Given the description of an element on the screen output the (x, y) to click on. 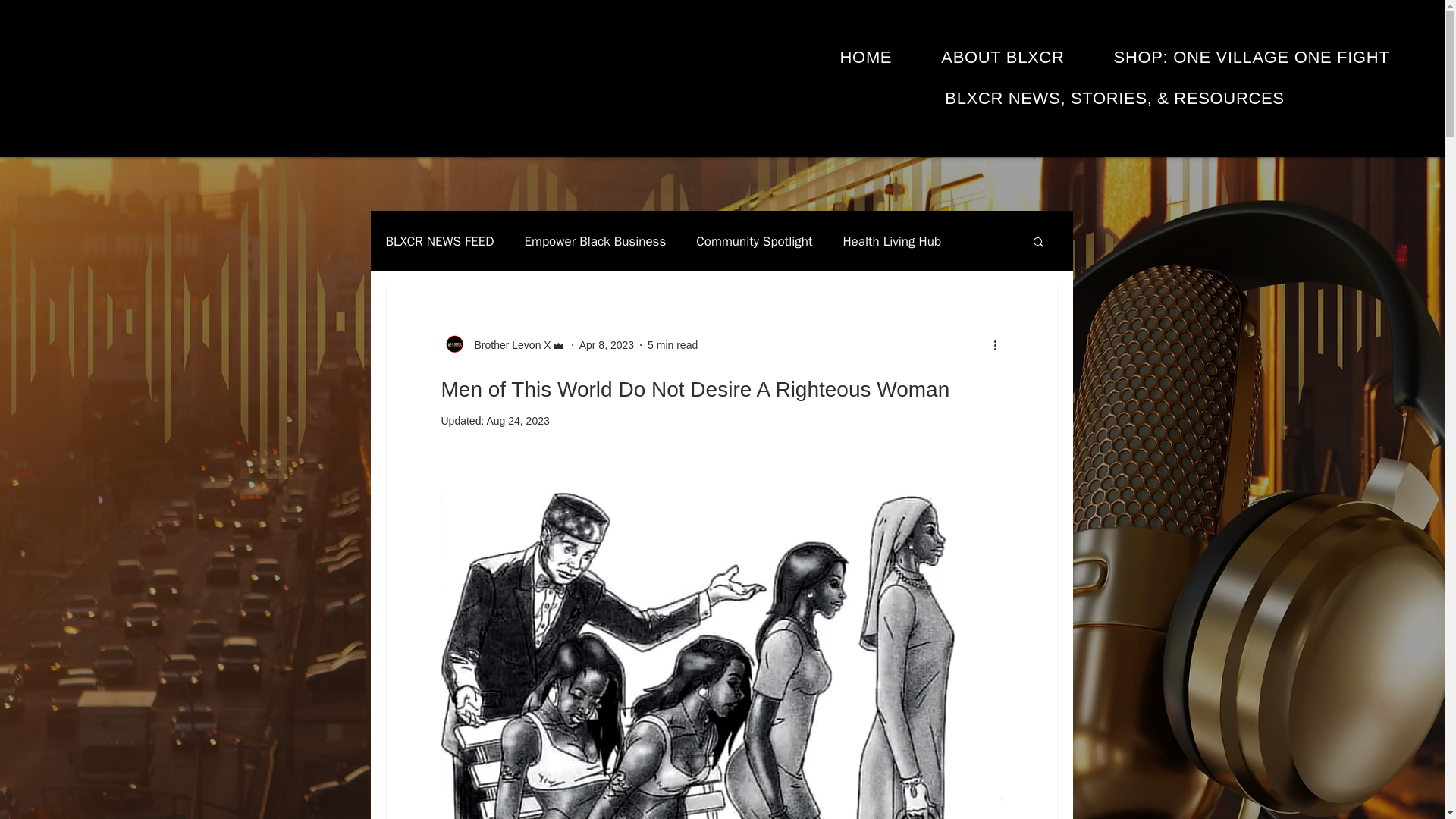
Aug 24, 2023 (517, 420)
ABOUT BLXCR (1002, 57)
Empower Black Business (595, 240)
Apr 8, 2023 (606, 344)
Brother Levon X (508, 344)
Health Living Hub (891, 240)
5 min read (672, 344)
HOME (865, 57)
Brother Levon X (503, 344)
BLXCR NEWS FEED (439, 240)
